Given the description of an element on the screen output the (x, y) to click on. 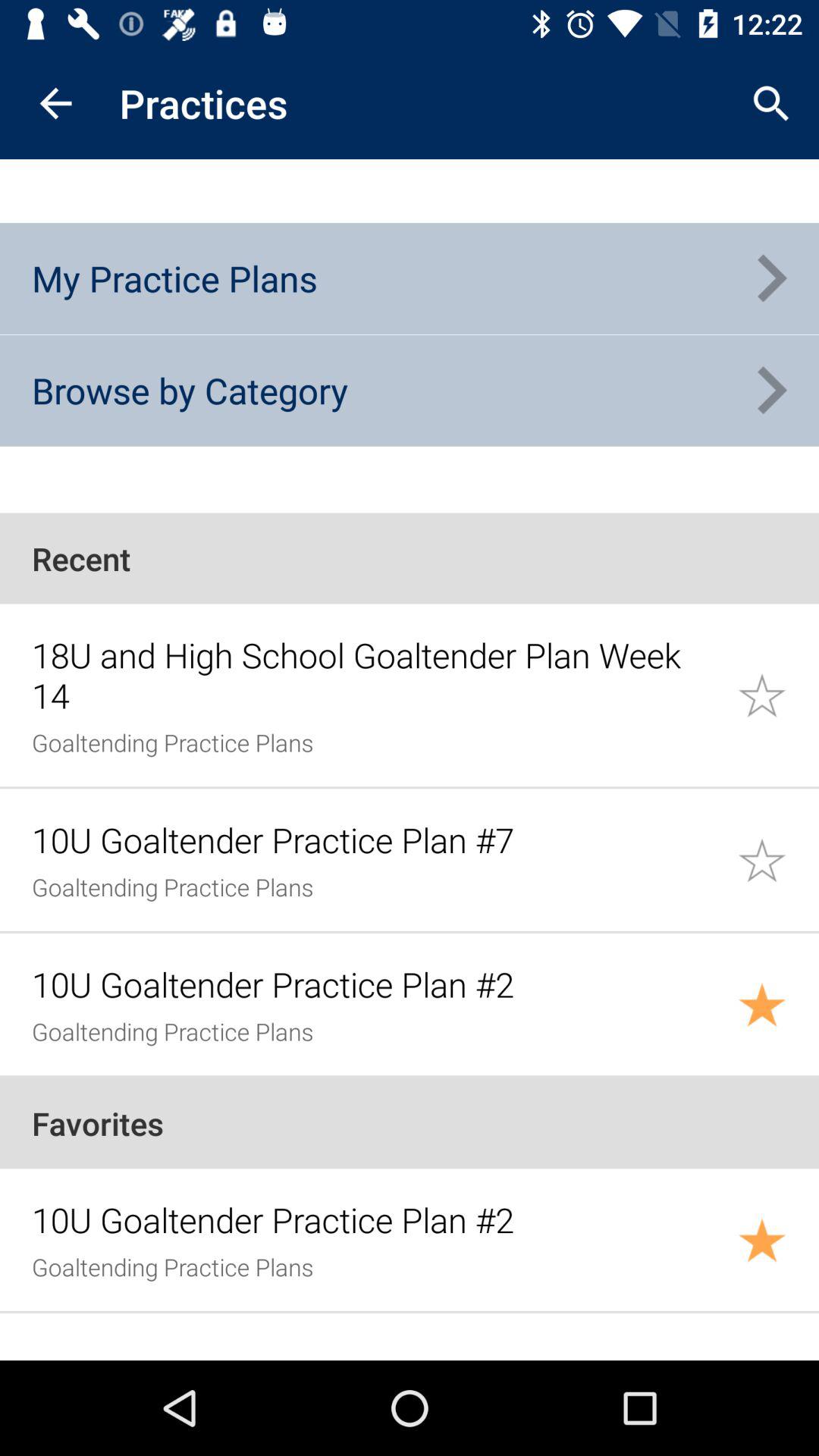
choose the app next to the practices item (771, 103)
